Given the description of an element on the screen output the (x, y) to click on. 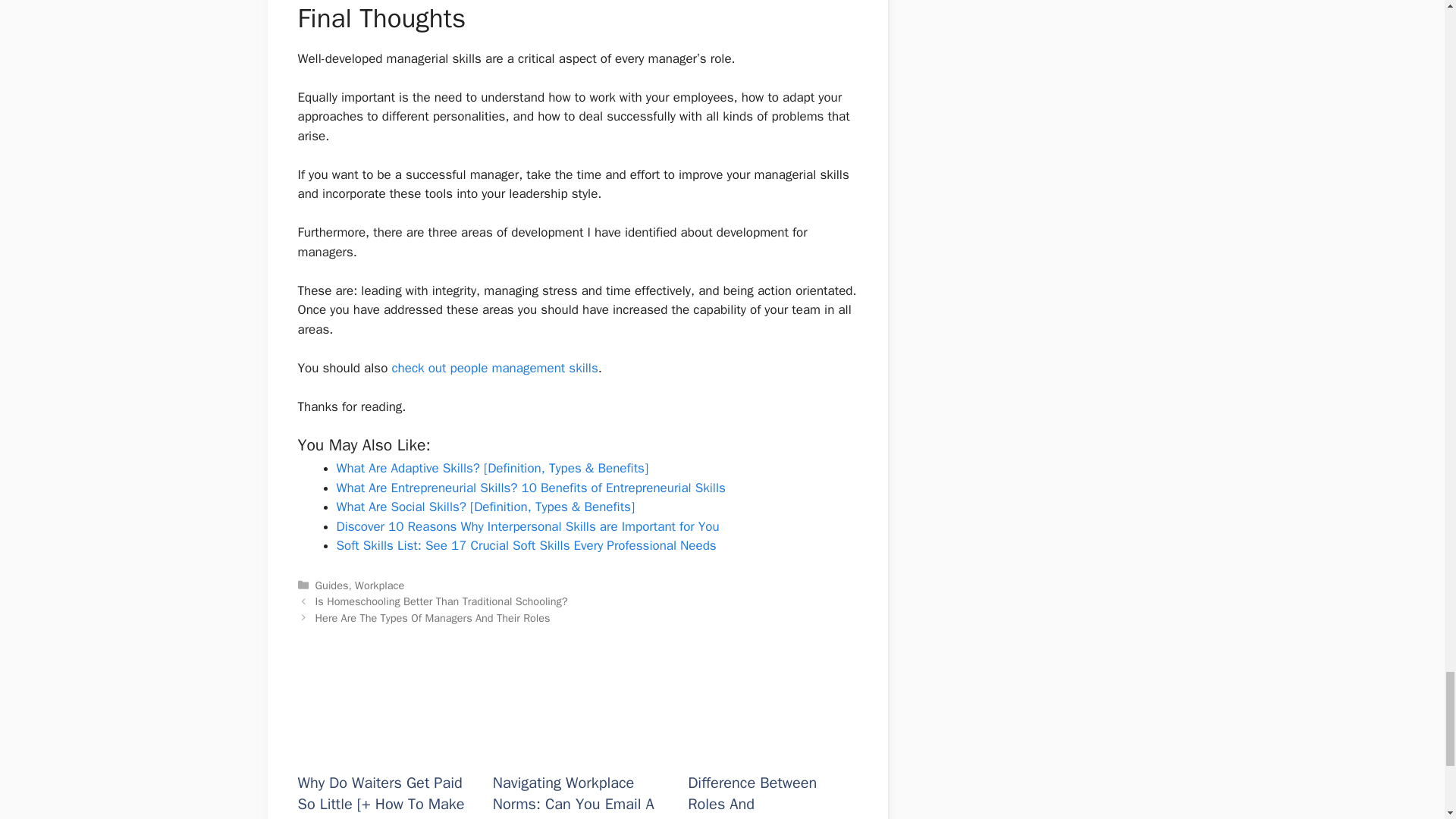
Guides (332, 585)
Workplace (379, 585)
Here Are The Types Of Managers And Their Roles (432, 617)
check out people management skills (493, 367)
Difference Between Roles And Responsibilities (772, 750)
Is Homeschooling Better Than Traditional Schooling? (441, 601)
